Given the description of an element on the screen output the (x, y) to click on. 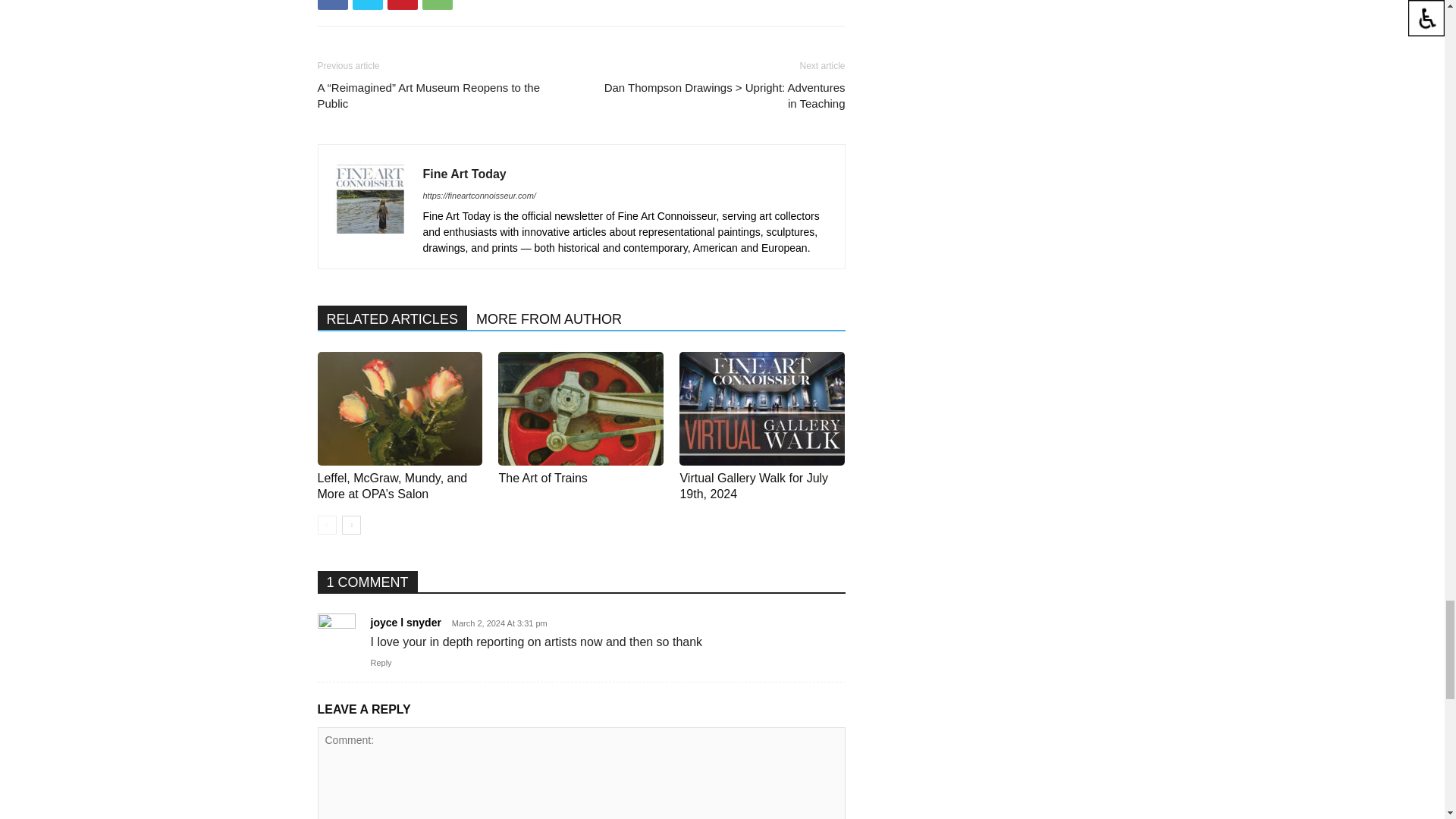
Virtual Gallery Walk for July 19th, 2024 (761, 409)
The Art of Trains (580, 409)
